Given the description of an element on the screen output the (x, y) to click on. 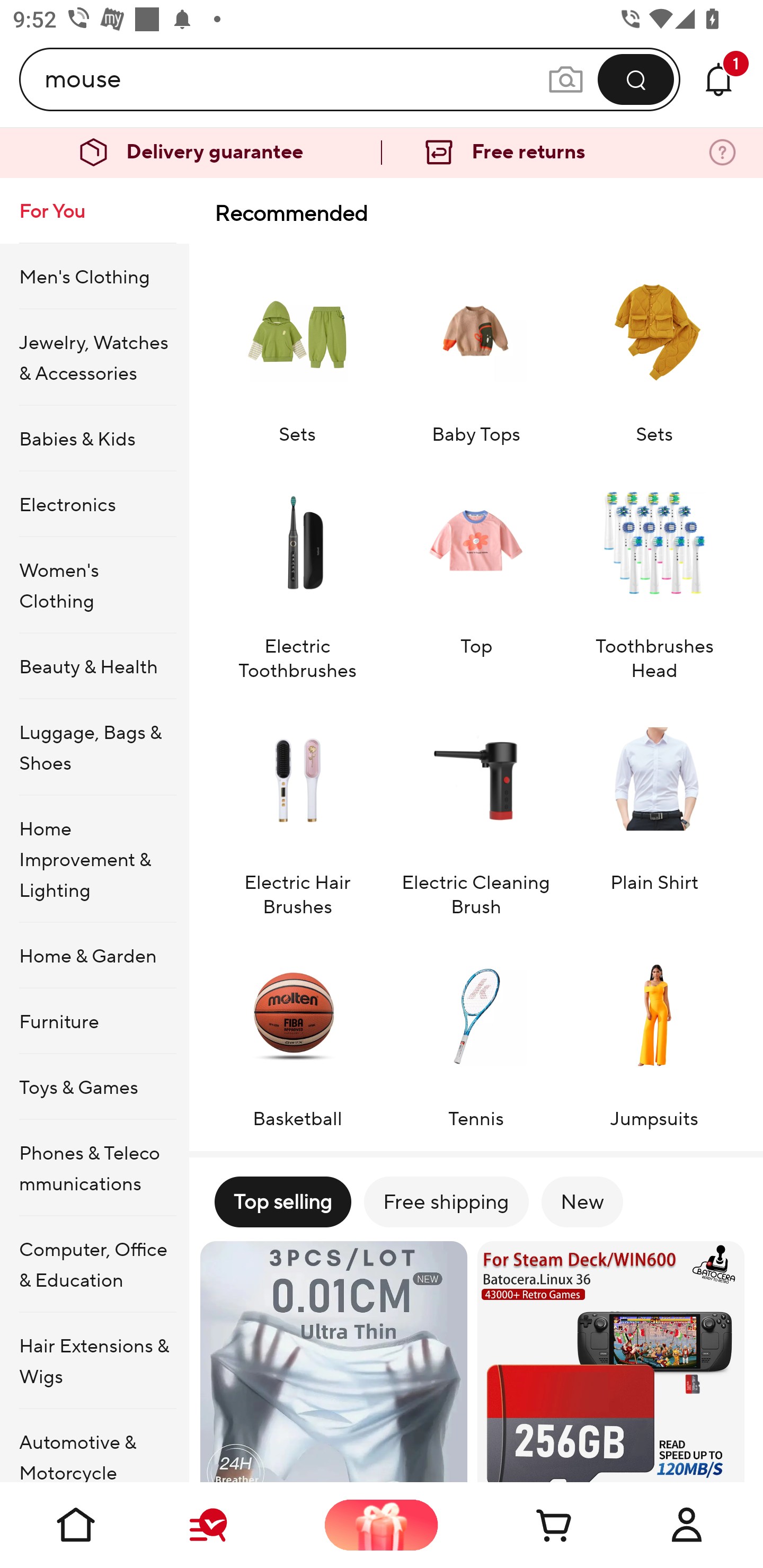
mouse Search query (295, 79)
Messages 1 (718, 79)
Delivery guarantee Free returns (381, 152)
For You (94, 210)
Recommended (476, 212)
Men's Clothing (94, 275)
Sets (296, 346)
Baby Tops (475, 346)
Sets (654, 346)
Jewelry, Watches & Accessories (94, 357)
Babies & Kids (94, 438)
Electric Toothbrushes (296, 571)
Top (475, 571)
Toothbrushes Head (654, 571)
Electronics (94, 504)
Women's Clothing (94, 585)
Beauty & Health (94, 666)
Electric Hair Brushes (296, 808)
Electric Cleaning Brush (475, 808)
Plain Shirt (654, 808)
Luggage, Bags & Shoes (94, 746)
Home Improvement & Lighting (94, 858)
Home & Garden (94, 955)
Basketball (296, 1032)
Tennis (475, 1032)
Jumpsuits (654, 1032)
Furniture (94, 1020)
Toys & Games (94, 1086)
Phones & Telecommunications (94, 1167)
Top selling (282, 1201)
Free shipping (445, 1201)
New (582, 1201)
Computer, Office & Education (94, 1264)
Hair Extensions & Wigs (94, 1360)
Automotive & Motorcycle (94, 1445)
Home (76, 1524)
Cart (533, 1524)
Account (686, 1524)
